Given the description of an element on the screen output the (x, y) to click on. 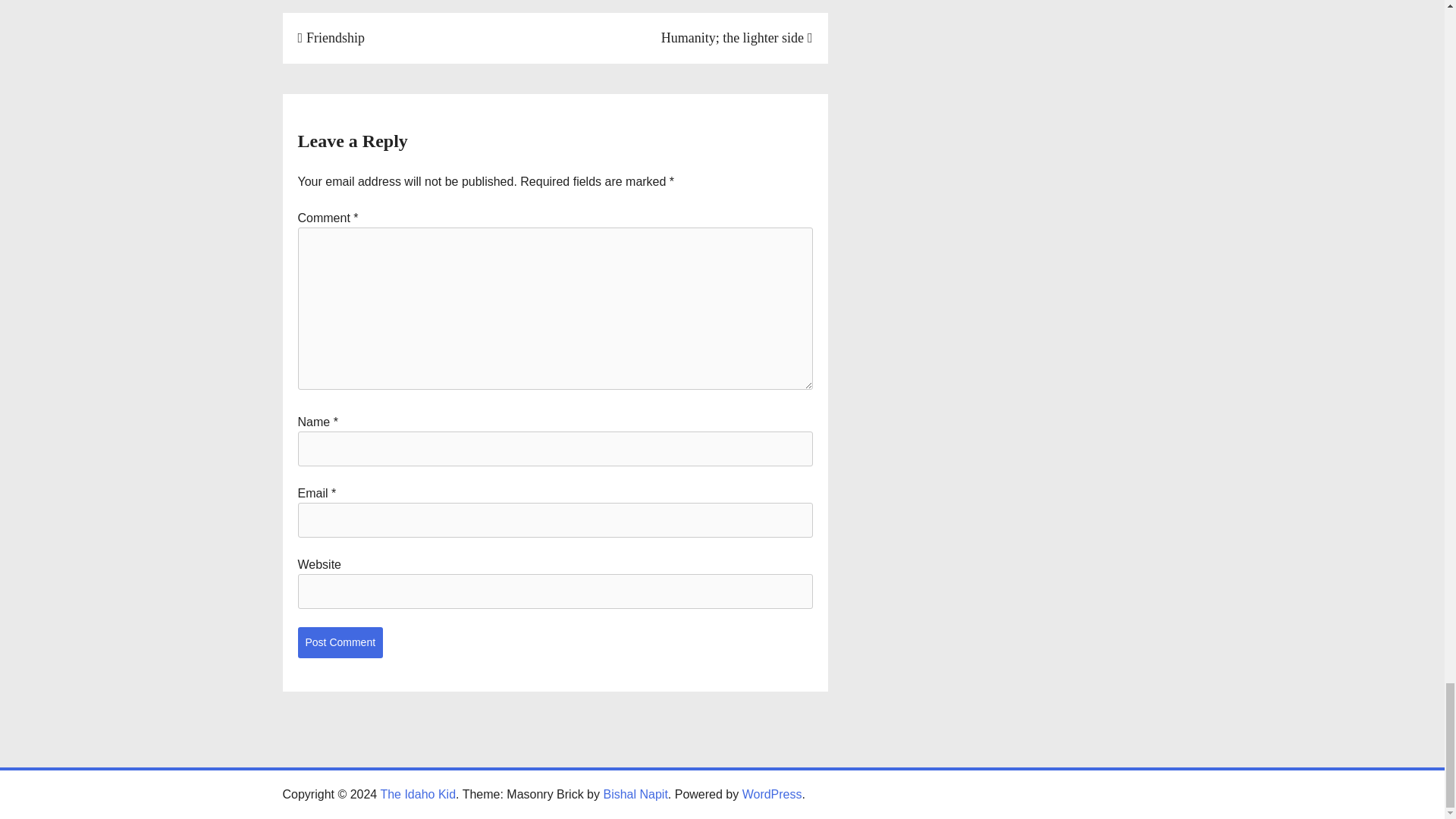
WordPress (772, 793)
Friendship (331, 37)
Bishal Napit (634, 793)
Post Comment (339, 642)
Post Comment (339, 642)
The Idaho Kid (417, 793)
Humanity; the lighter side (736, 37)
